Given the description of an element on the screen output the (x, y) to click on. 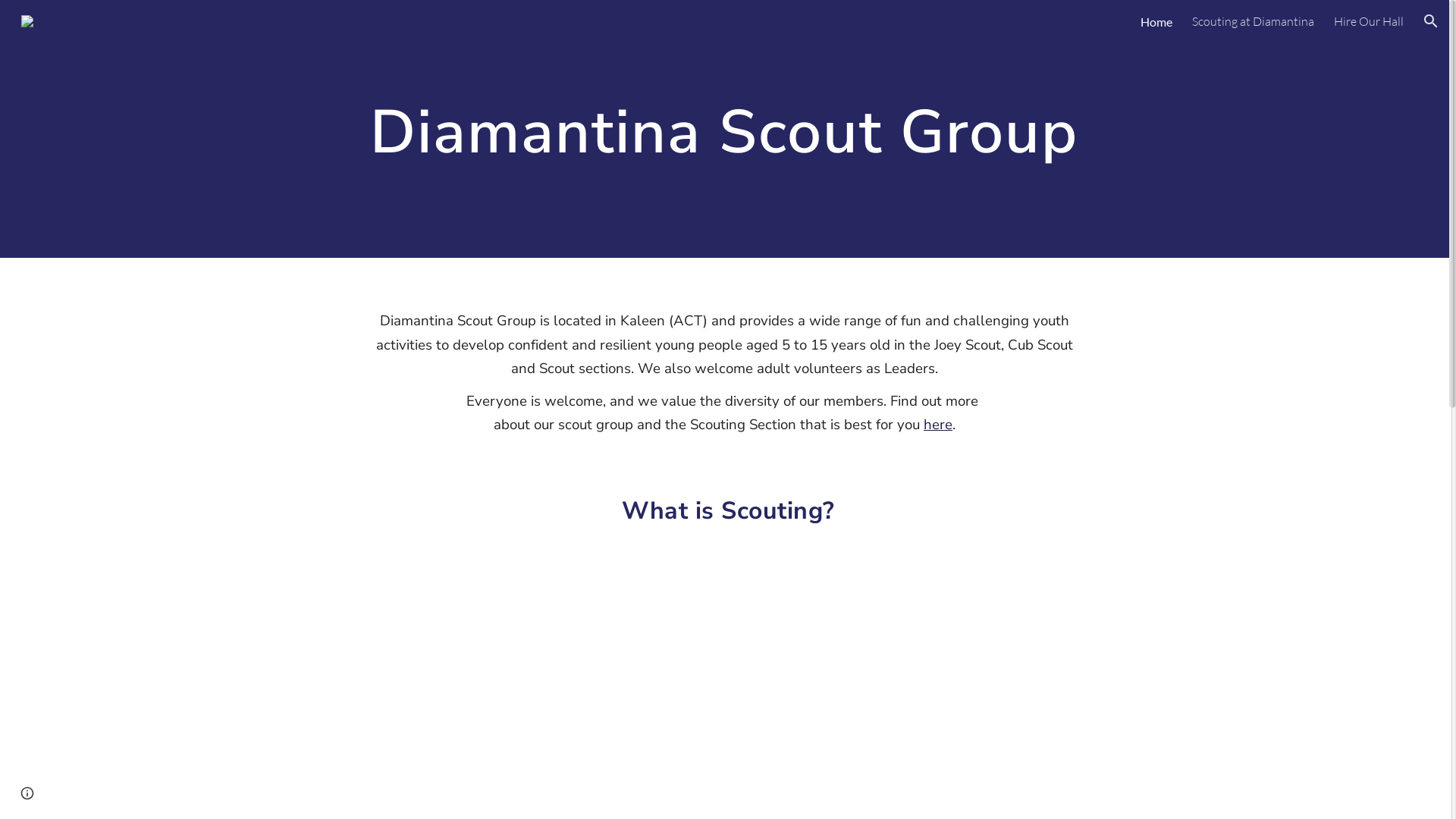
Home Element type: text (1156, 20)
Hire Our Hall Element type: text (1368, 20)
Scouting at Diamantina Element type: text (1253, 20)
here Element type: text (937, 424)
